Given the description of an element on the screen output the (x, y) to click on. 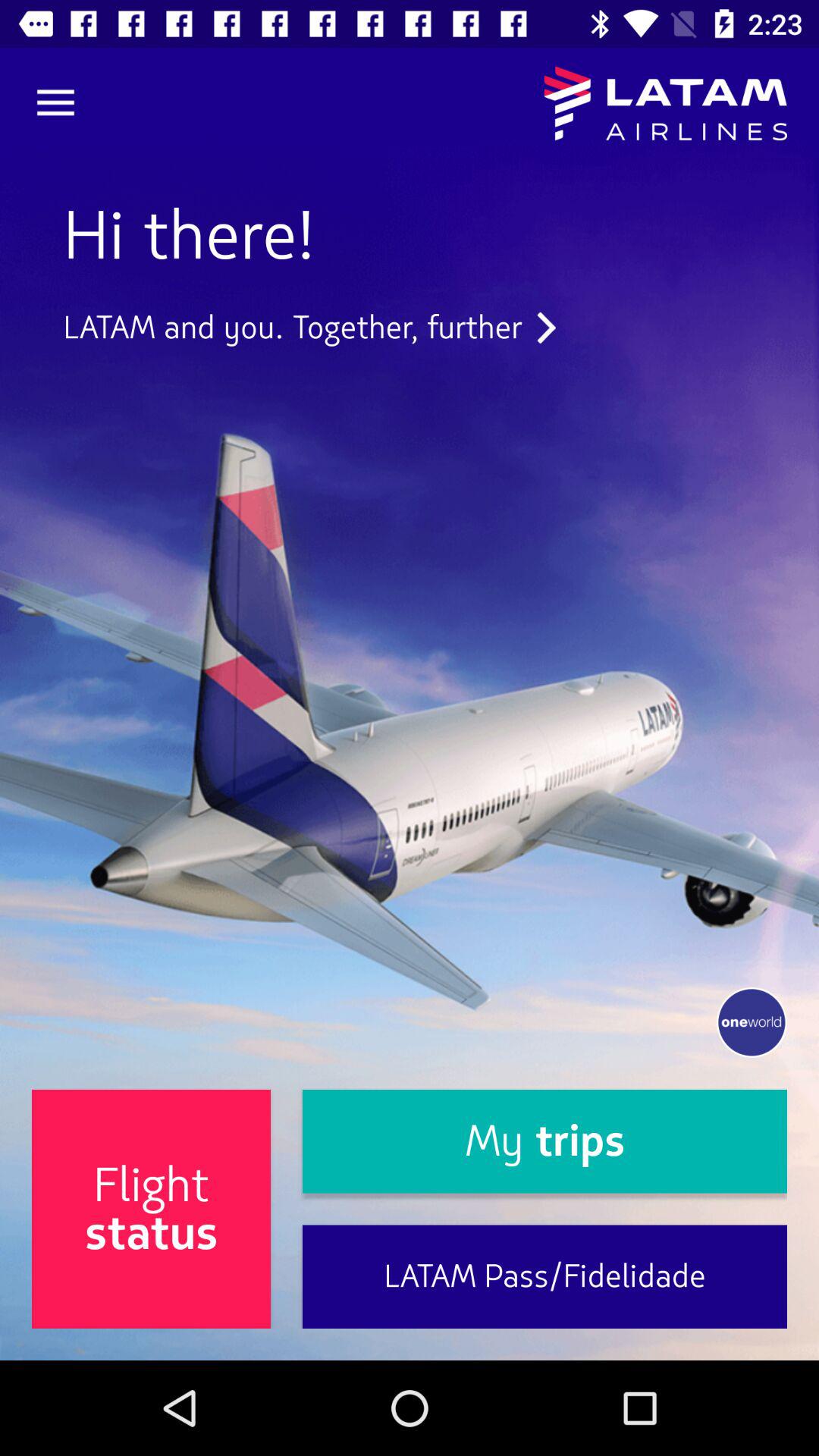
click the item next to flight
status item (544, 1276)
